Given the description of an element on the screen output the (x, y) to click on. 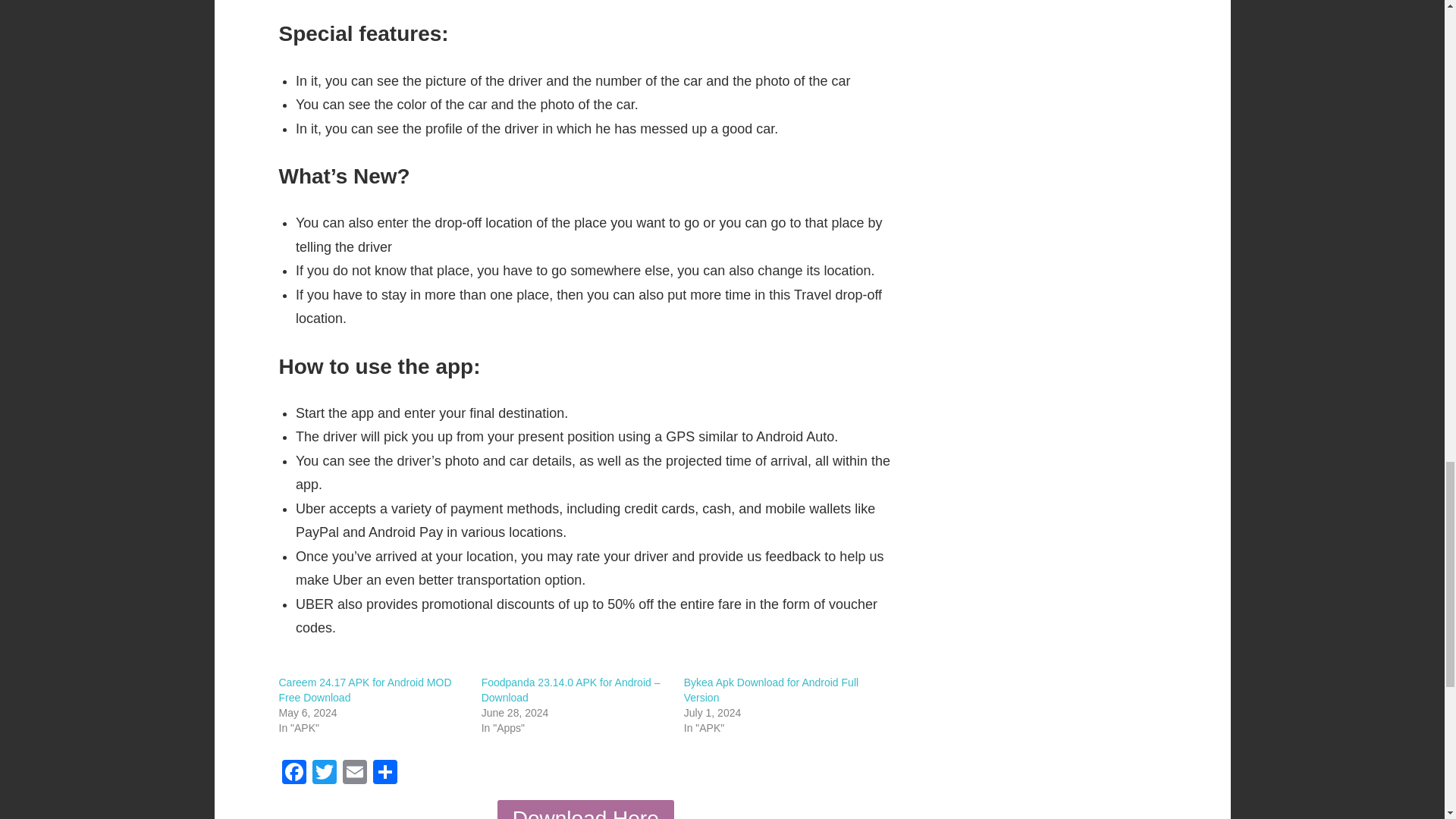
Careem 24.17 APK for Android MOD Free Download (365, 689)
Careem 24.17 APK for Android MOD Free Download (365, 689)
Bykea Apk Download for Android Full Version (771, 689)
Facebook (293, 773)
Twitter (323, 773)
Bykea Apk Download for Android Full Version (771, 689)
Email (354, 773)
Twitter (323, 773)
Download Here (585, 809)
Facebook (293, 773)
